Given the description of an element on the screen output the (x, y) to click on. 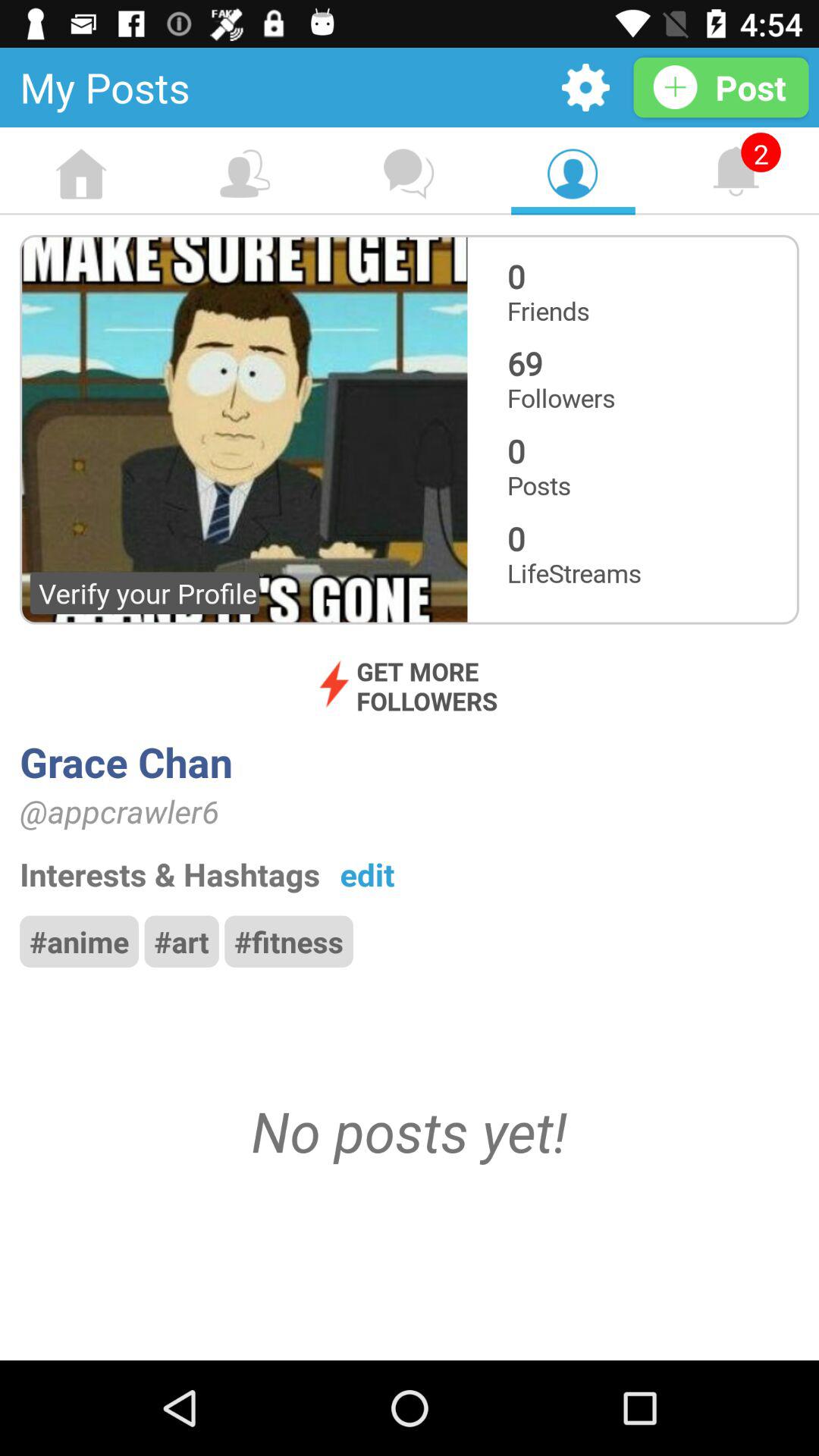
turn on icon above the no posts yet! (78, 941)
